Given the description of an element on the screen output the (x, y) to click on. 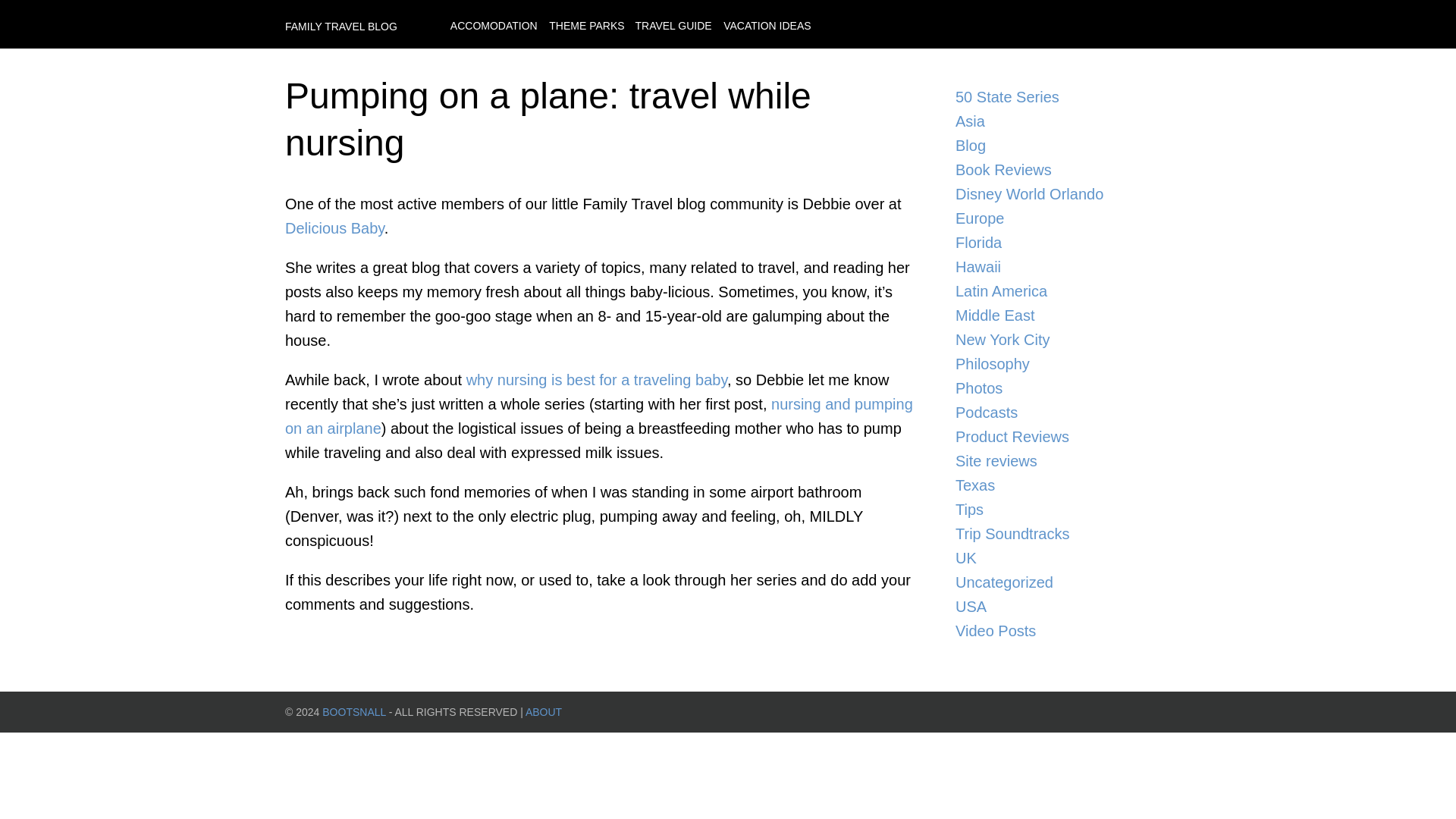
nursing and pumping on an airplane (598, 415)
ACCOMODATION (493, 25)
Philosophy (1056, 363)
USA (1056, 606)
TRAVEL GUIDE (672, 25)
UK (1056, 558)
FAMILY TRAVEL BLOG (341, 26)
Product Reviews (1056, 436)
Latin America (1056, 291)
Photos (1056, 387)
Europe (1056, 218)
Delicious Baby (334, 228)
Disney World Orlando (1056, 193)
Tips (1056, 509)
BOOTSNALL (353, 711)
